Given the description of an element on the screen output the (x, y) to click on. 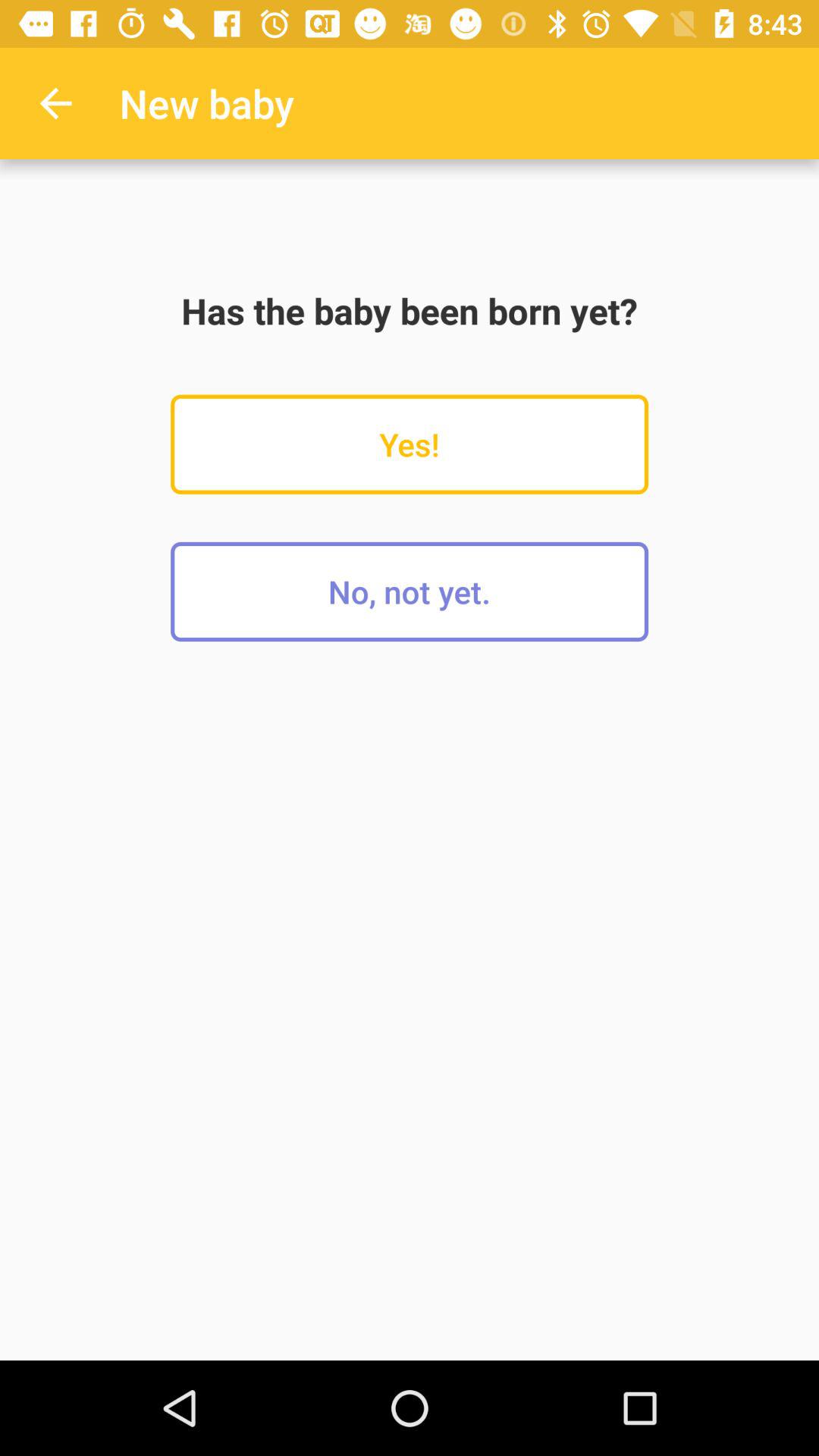
tap the icon at the center (409, 591)
